Given the description of an element on the screen output the (x, y) to click on. 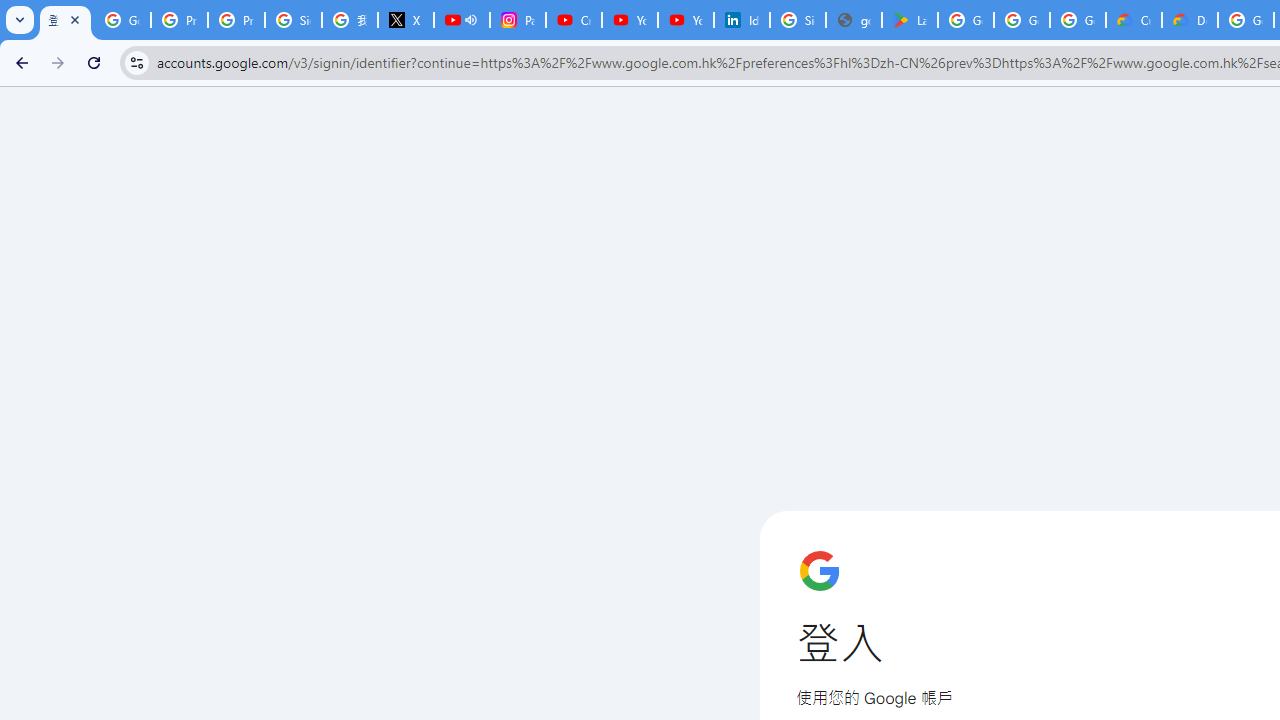
Sign in - Google Accounts (293, 20)
X (405, 20)
google_privacy_policy_en.pdf (853, 20)
Google Workspace - Specific Terms (1021, 20)
Privacy Help Center - Policies Help (179, 20)
